Given the description of an element on the screen output the (x, y) to click on. 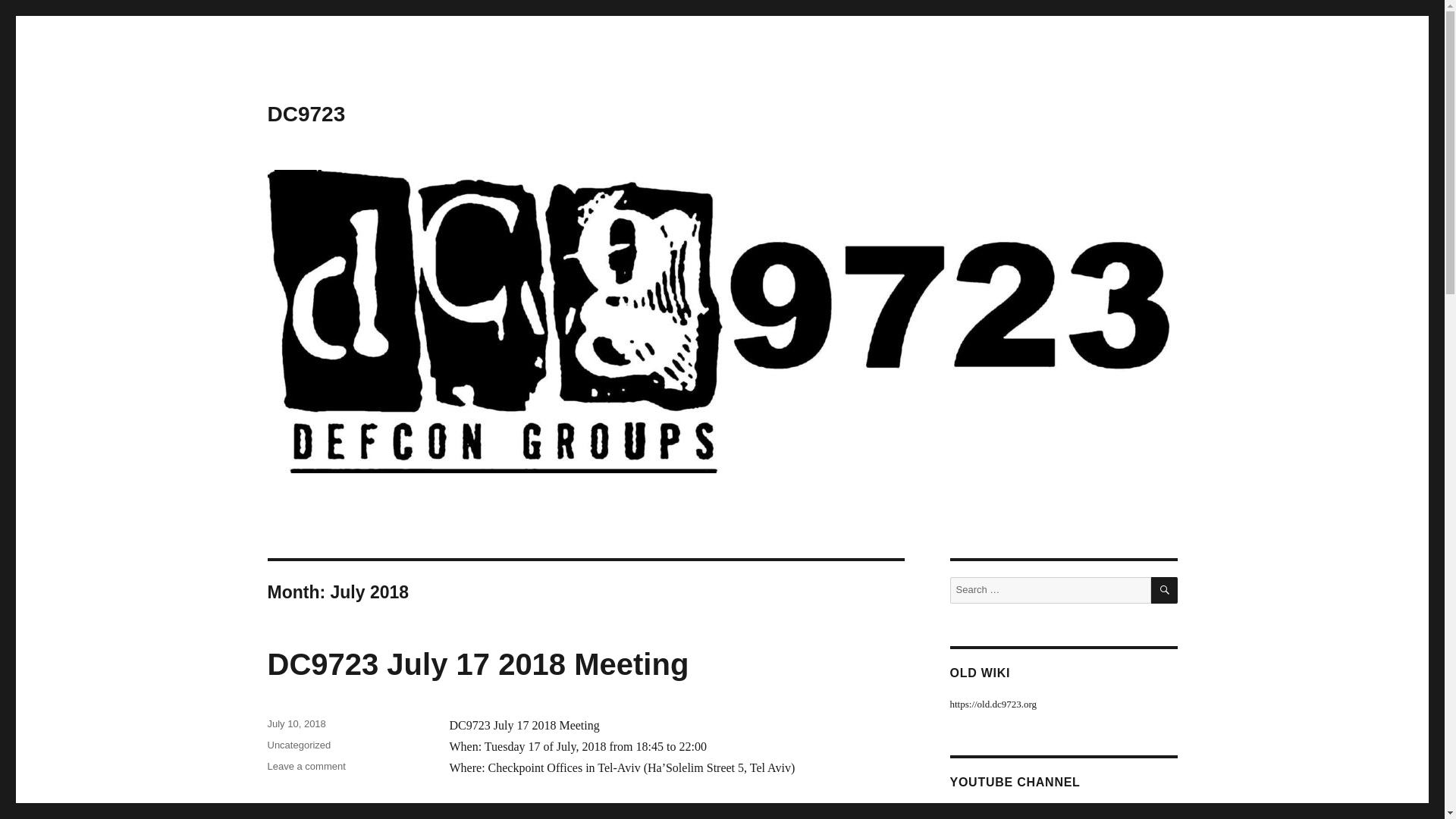
DC9723 (305, 114)
SEARCH (1164, 590)
Uncategorized (298, 745)
DC9723 July 17 2018 Meeting (305, 766)
July 10, 2018 (477, 663)
